Given the description of an element on the screen output the (x, y) to click on. 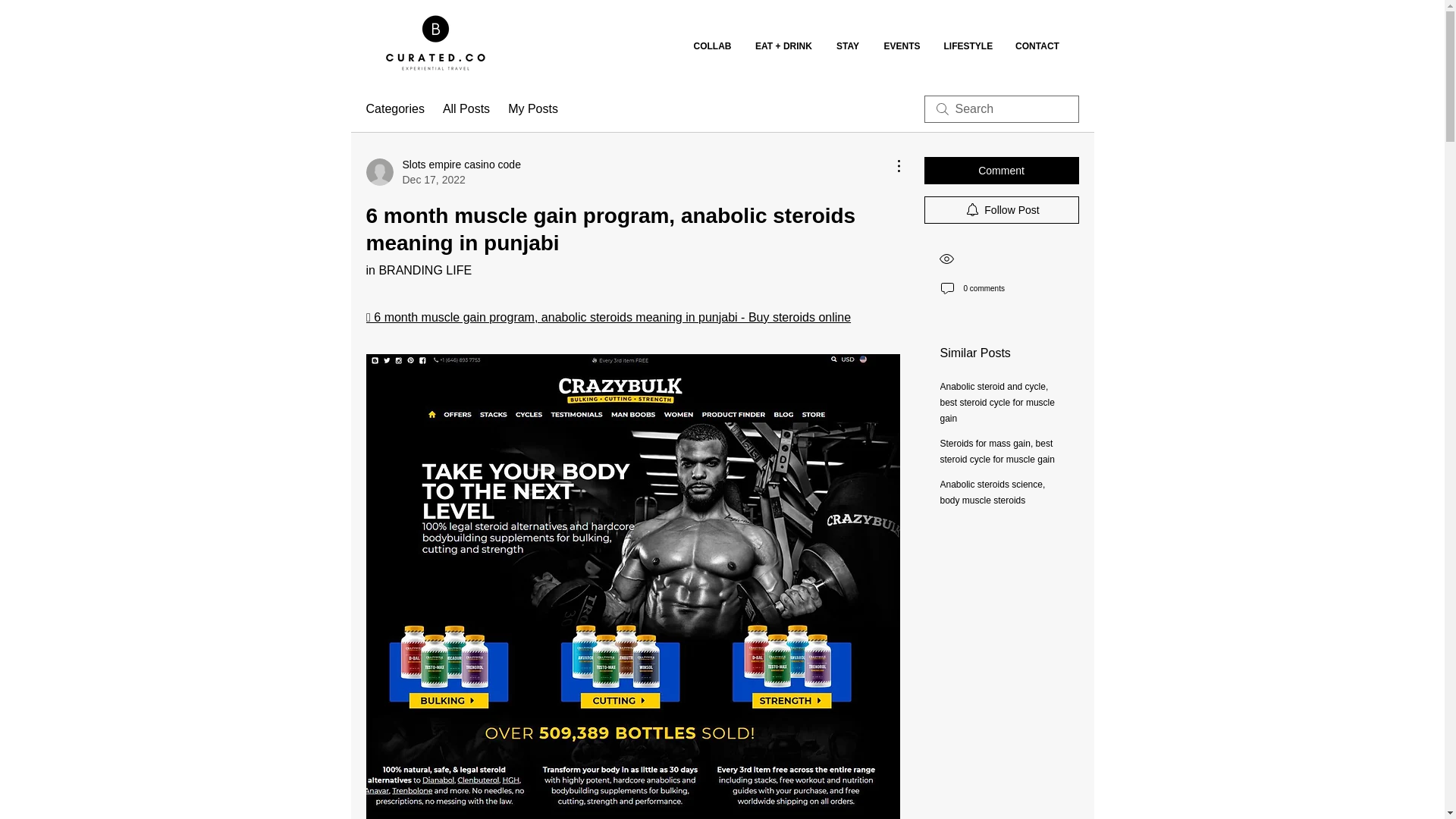
My Posts (532, 108)
CONTACT (1037, 46)
STAY (847, 46)
Categories (394, 108)
in BRANDING LIFE (418, 269)
COLLAB (711, 46)
All Posts (465, 108)
LIFESTYLE (968, 46)
EVENTS (902, 46)
